Given the description of an element on the screen output the (x, y) to click on. 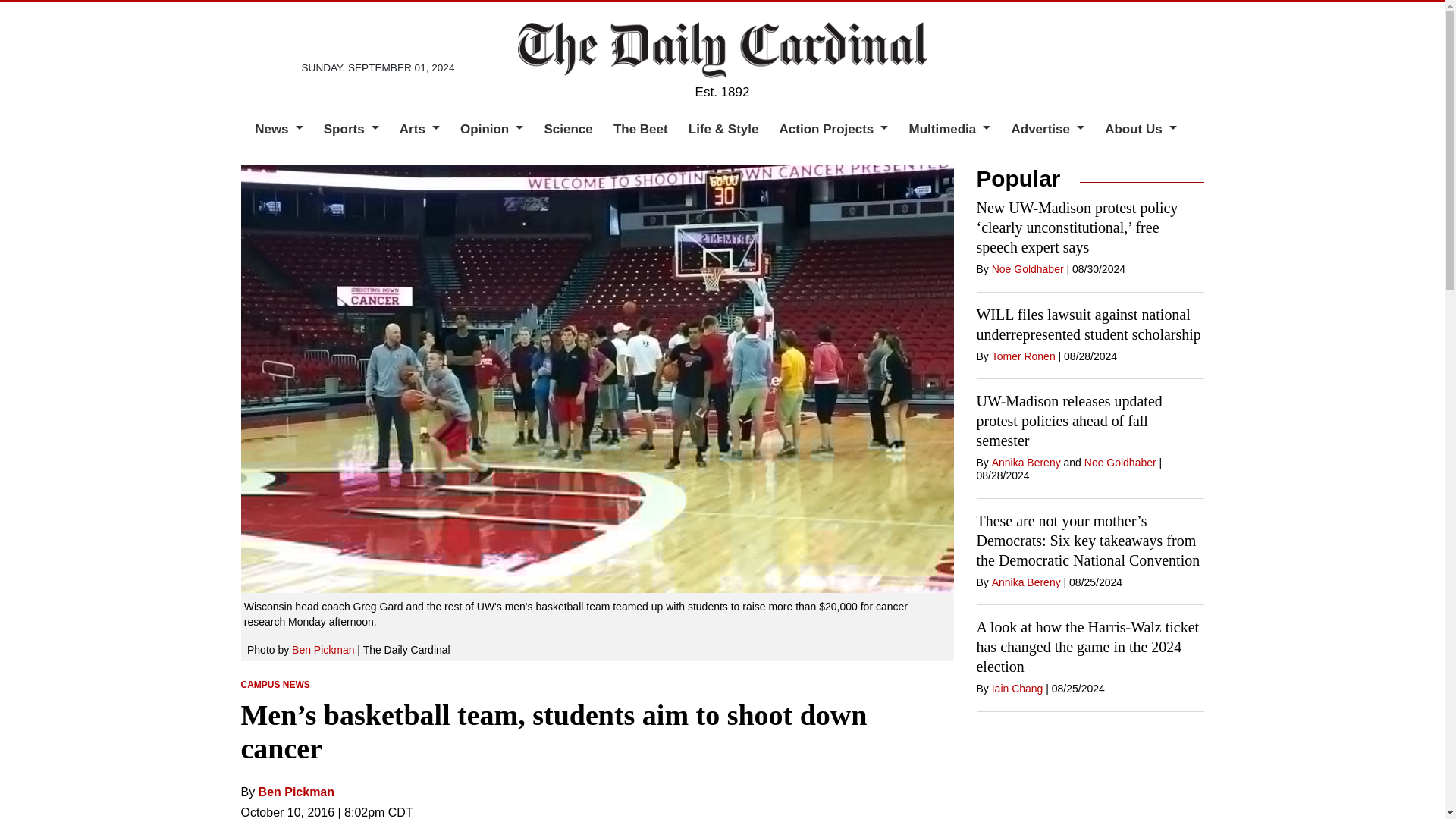
Arts (419, 129)
The Beet (640, 129)
Sports (351, 129)
Science (567, 129)
News (278, 129)
